Given the description of an element on the screen output the (x, y) to click on. 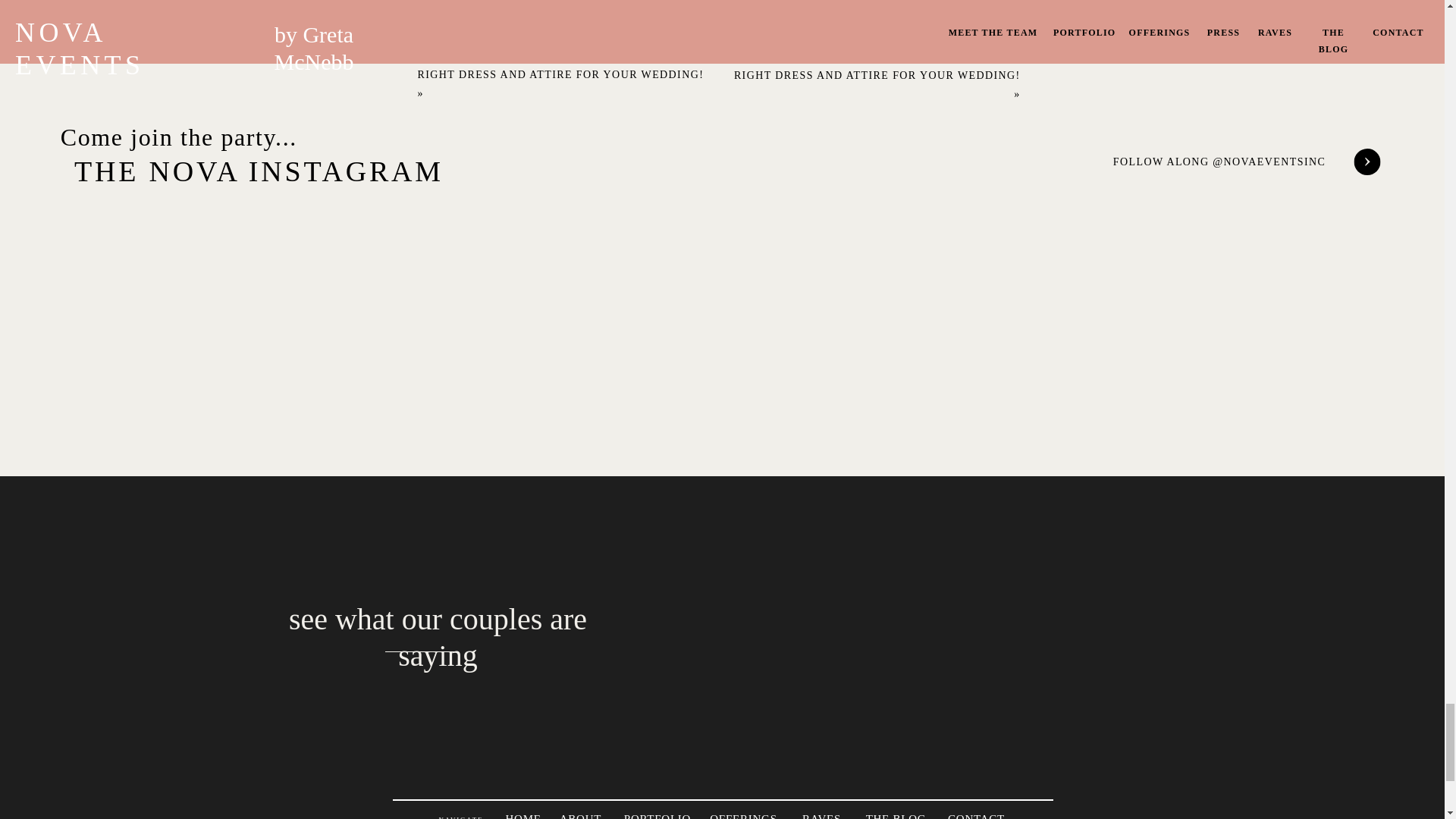
ABOUT (580, 816)
RAVES (821, 816)
PORTFOLIO (657, 816)
OFFERINGS (742, 816)
HOME (522, 816)
